Given the description of an element on the screen output the (x, y) to click on. 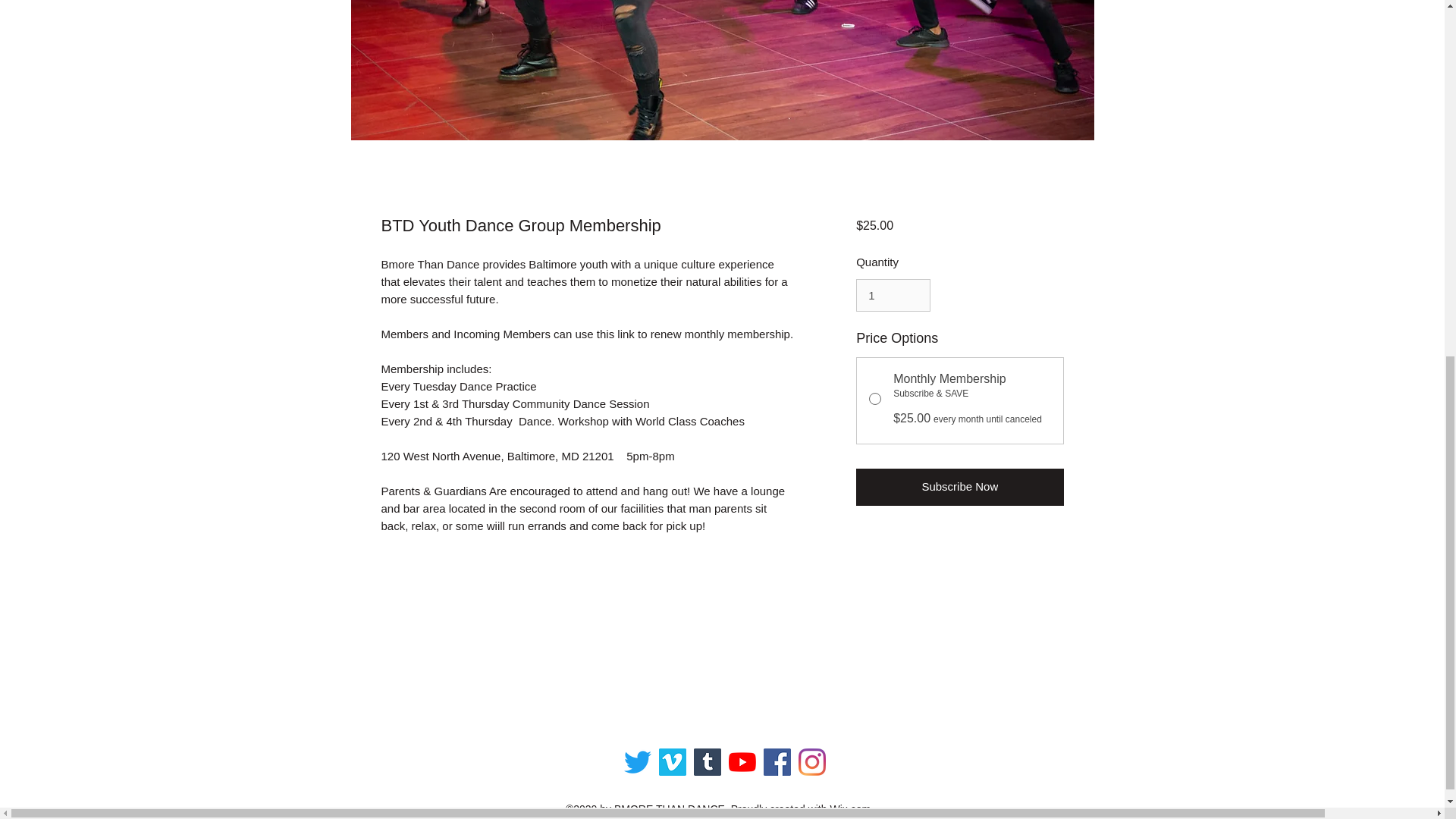
1 (893, 295)
Subscribe Now (959, 486)
